Given the description of an element on the screen output the (x, y) to click on. 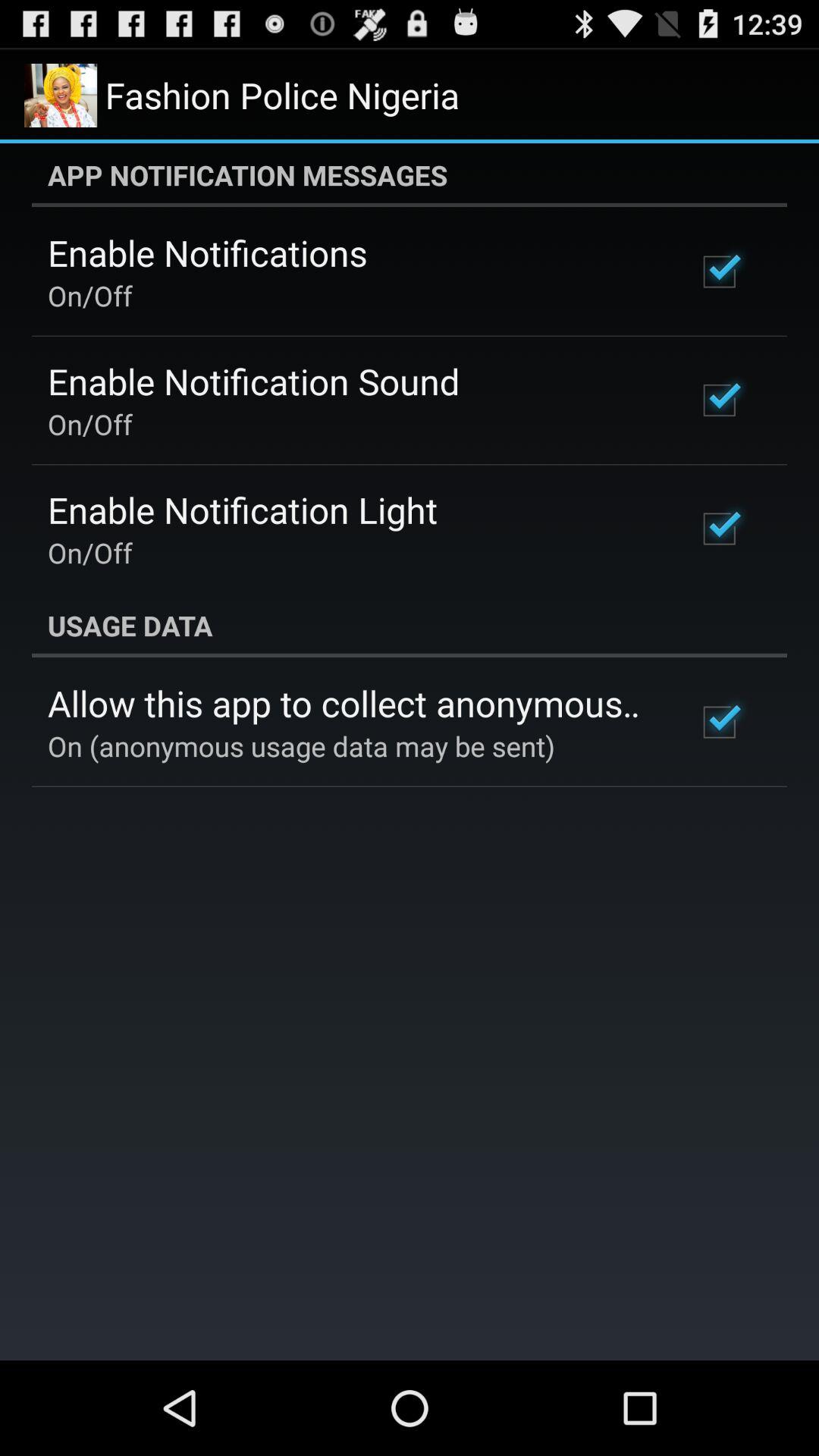
swipe to enable notifications (207, 252)
